Given the description of an element on the screen output the (x, y) to click on. 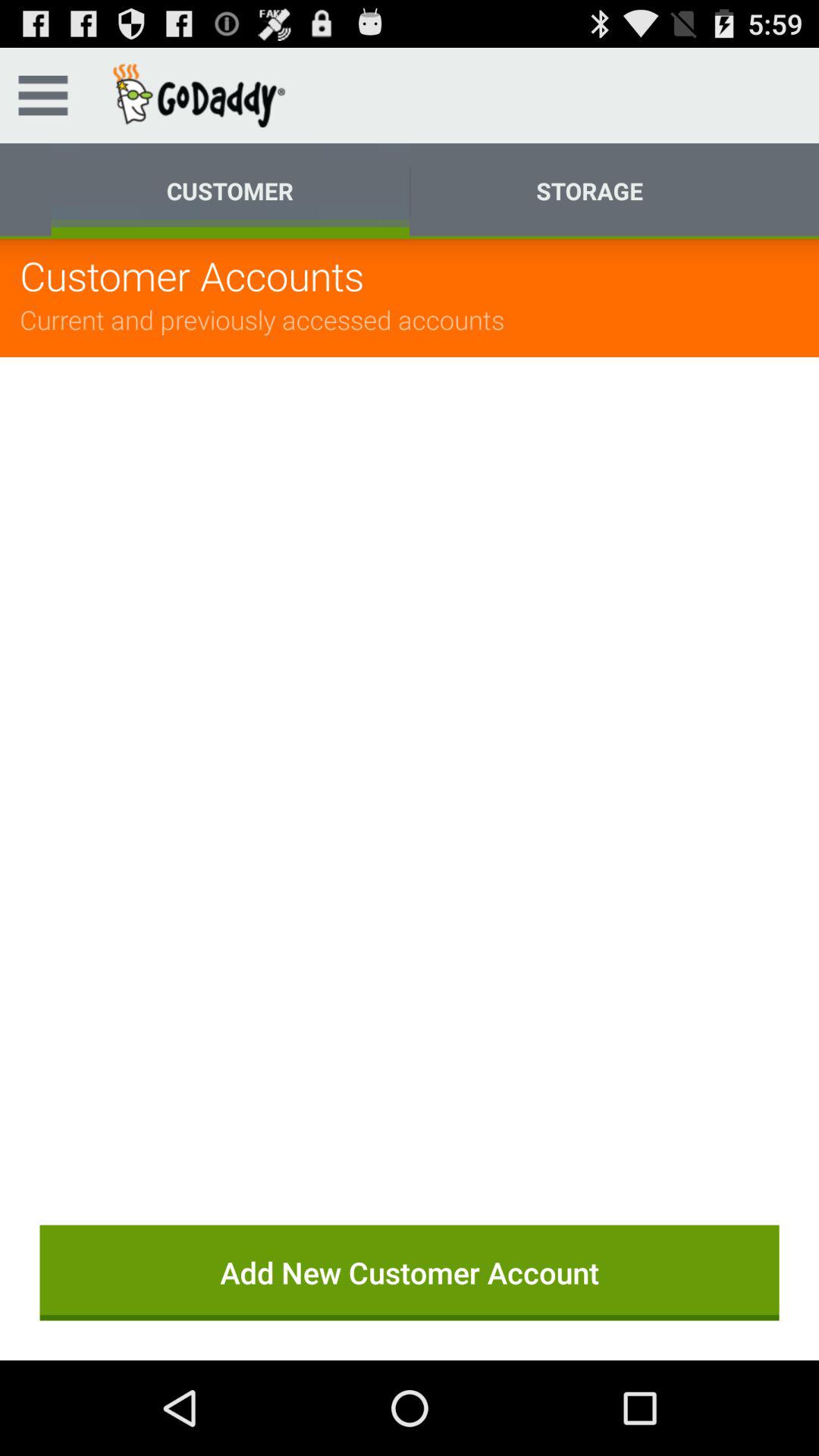
launch add new customer icon (409, 1272)
